Given the description of an element on the screen output the (x, y) to click on. 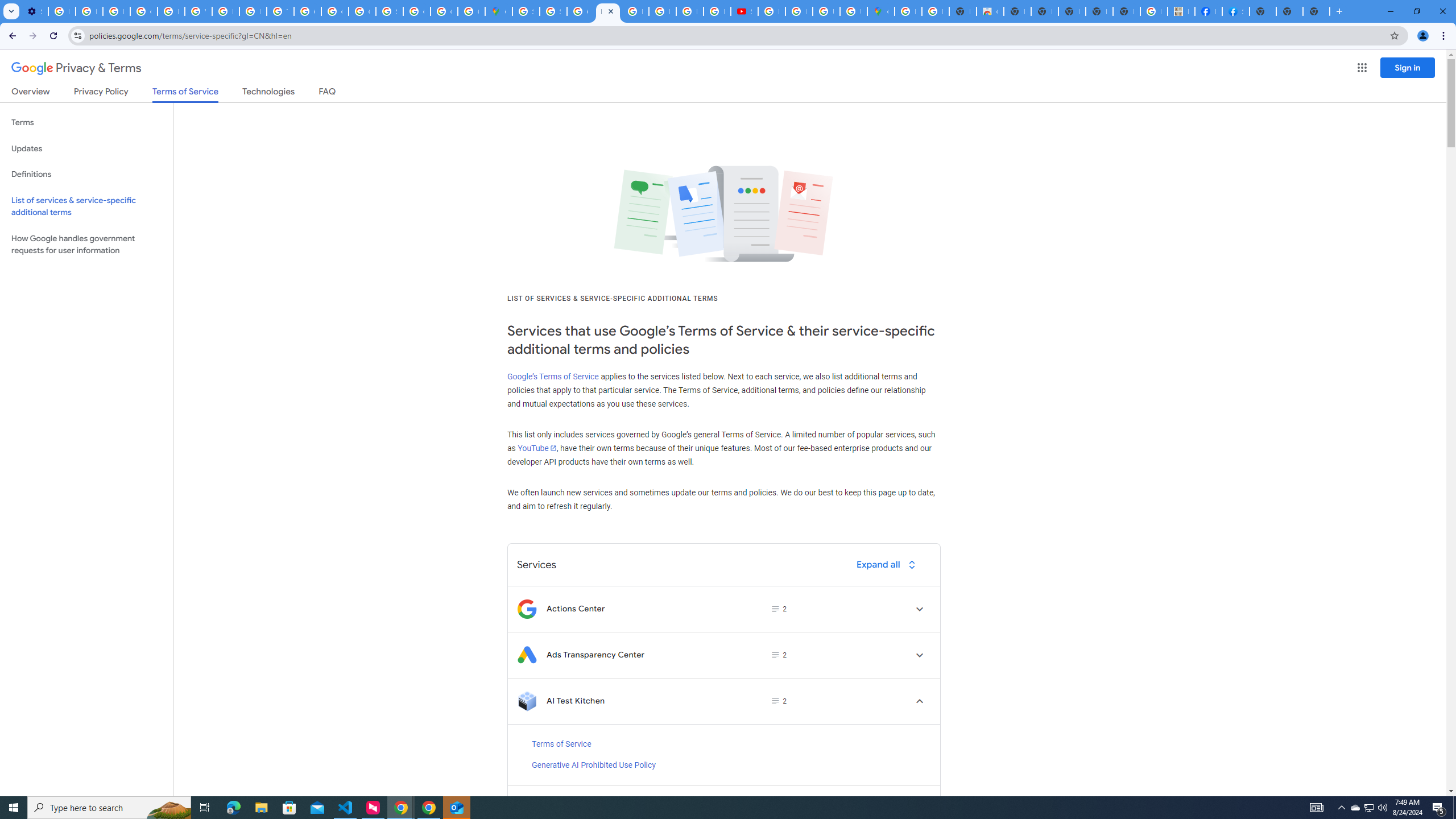
Logo for AI Test Kitchen (526, 700)
YouTube (536, 447)
Privacy Help Center - Policies Help (690, 11)
